Given the description of an element on the screen output the (x, y) to click on. 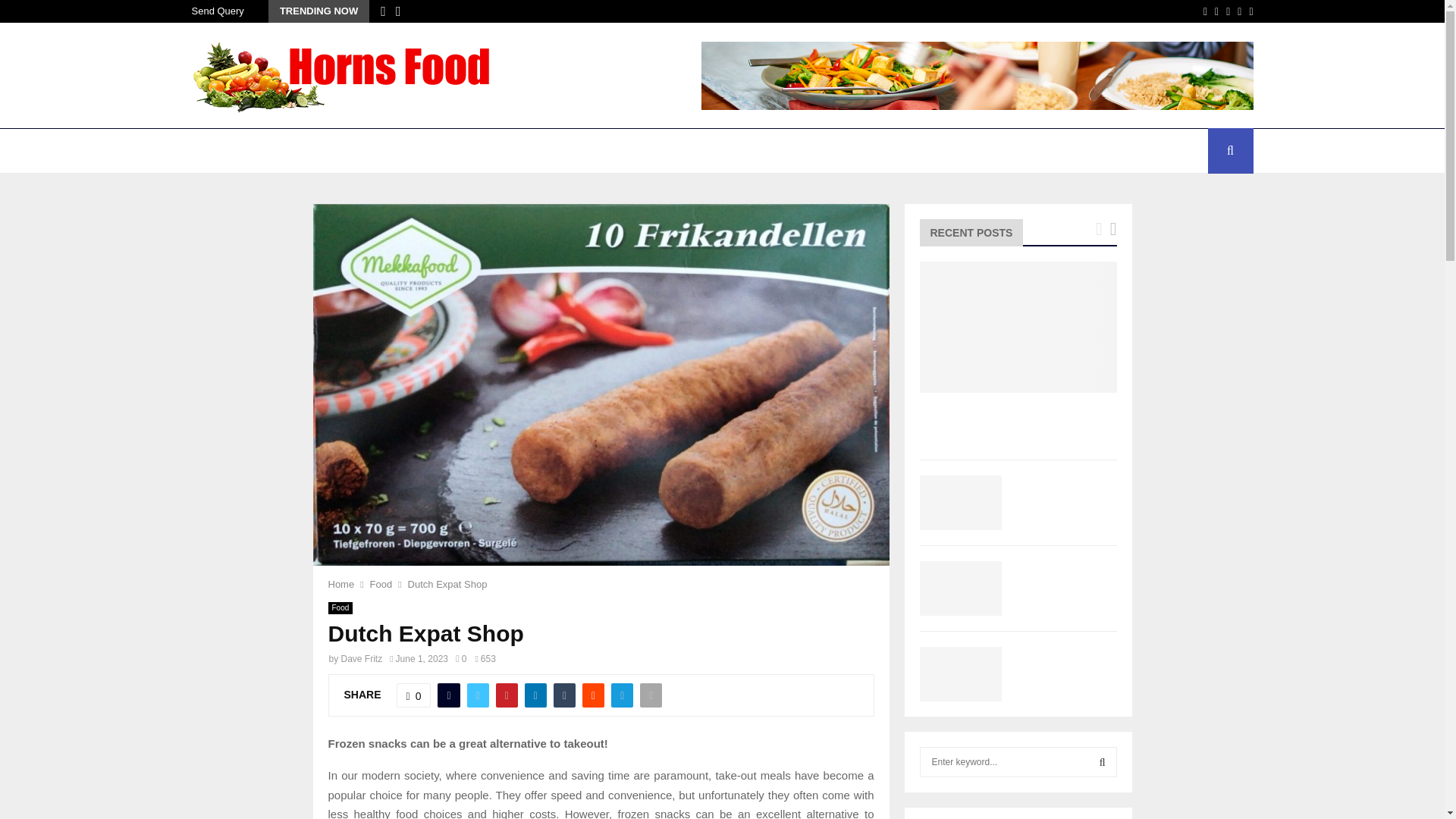
Dutch Expat Shop (447, 583)
0 (460, 658)
RESTAURANT (798, 150)
CATERING (290, 150)
Dave Fritz (361, 658)
FOOD (646, 150)
CHEF (360, 150)
Home (340, 583)
Food (339, 607)
Send Query (216, 11)
